Given the description of an element on the screen output the (x, y) to click on. 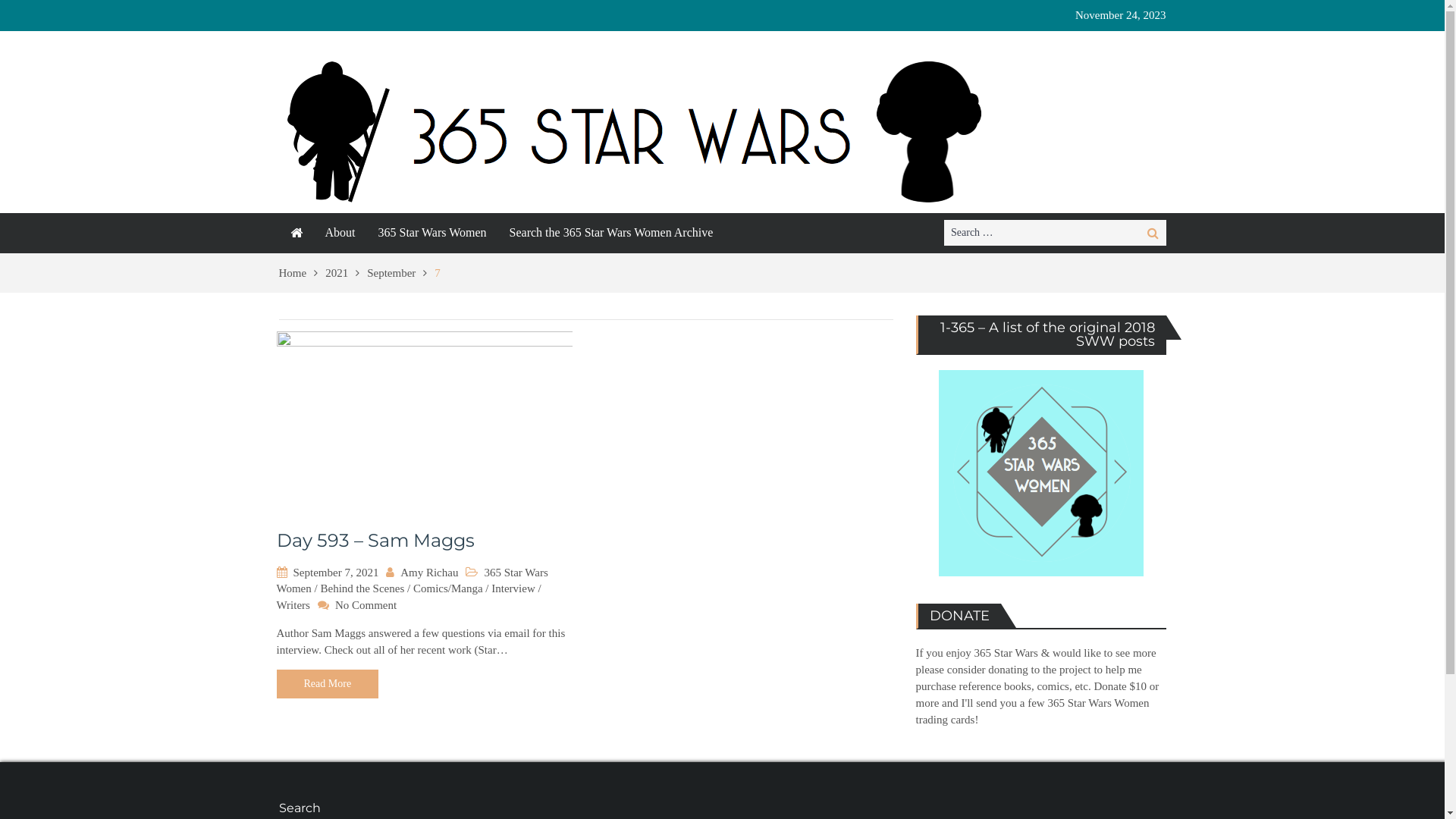
Writers Element type: text (292, 605)
Comics/Manga Element type: text (448, 588)
Interview Element type: text (512, 588)
Amy Richau Element type: text (429, 572)
Read More Element type: text (327, 683)
Search Element type: text (1153, 232)
2021 Element type: text (346, 272)
Home Element type: text (302, 272)
About Element type: text (340, 232)
September 7, 2021 Element type: text (335, 572)
365 Star Wars Women Element type: text (432, 232)
September Element type: text (400, 272)
Search the 365 Star Wars Women Archive Element type: text (611, 232)
365 Star Wars Women Element type: text (411, 580)
Behind the Scenes Element type: text (362, 588)
